Given the description of an element on the screen output the (x, y) to click on. 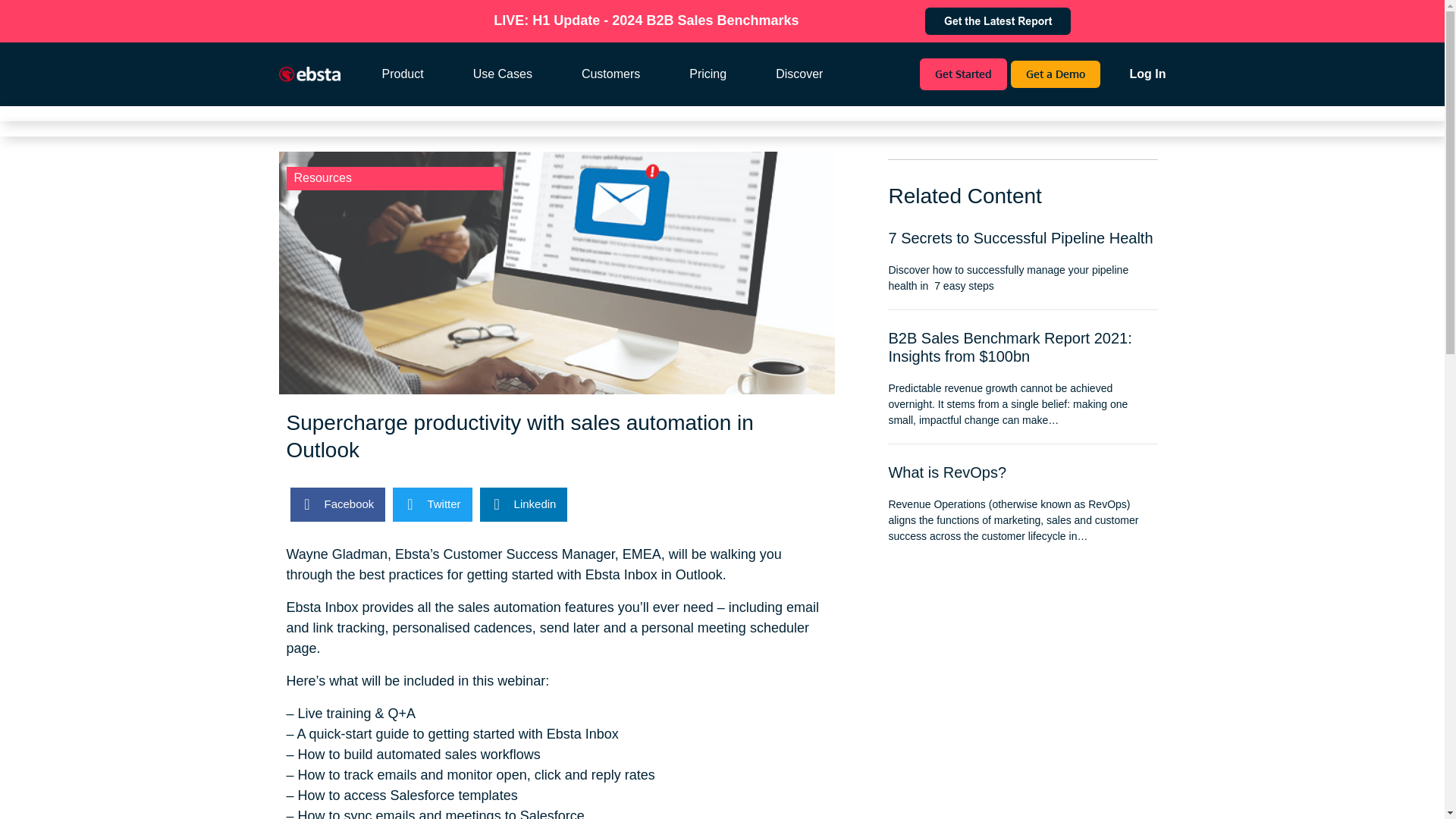
Ebsta-Logo-192 (309, 74)
Use Cases (515, 73)
Customers (624, 73)
Product (415, 73)
